Given the description of an element on the screen output the (x, y) to click on. 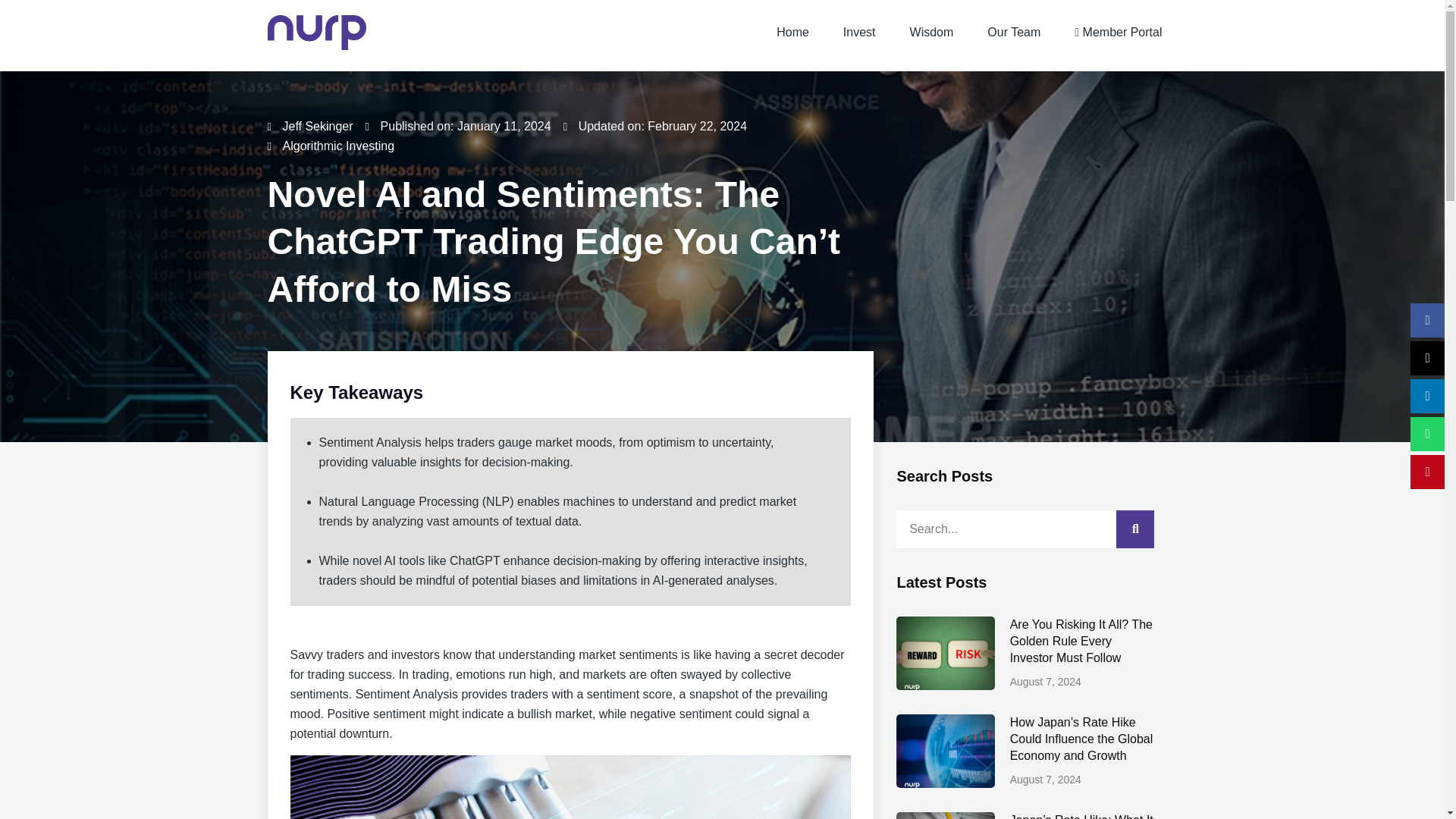
Wisdom (932, 32)
Our Team (1013, 32)
Jeff Sekinger (309, 126)
 Member Portal (1117, 32)
Invest (859, 32)
Algorithmic Investing (338, 145)
Home (792, 32)
